Given the description of an element on the screen output the (x, y) to click on. 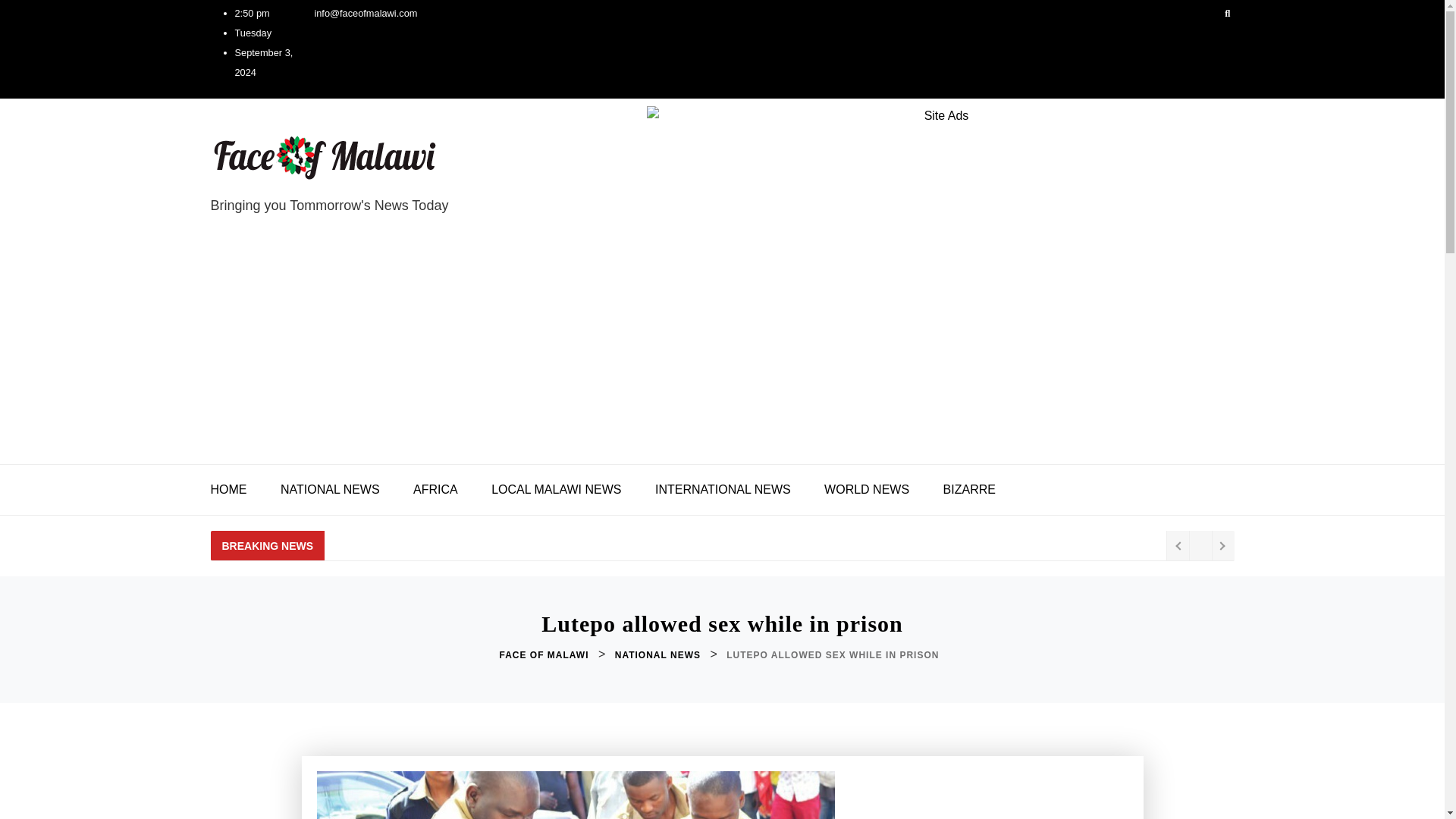
BIZARRE (969, 490)
INTERNATIONAL NEWS (723, 490)
Go to the National News Category archives. (658, 655)
FACE OF MALAWI (545, 655)
HOME (236, 490)
NATIONAL NEWS (329, 490)
NATIONAL NEWS (658, 655)
WORLD NEWS (866, 490)
Go to Face of Malawi. (545, 655)
